Given the description of an element on the screen output the (x, y) to click on. 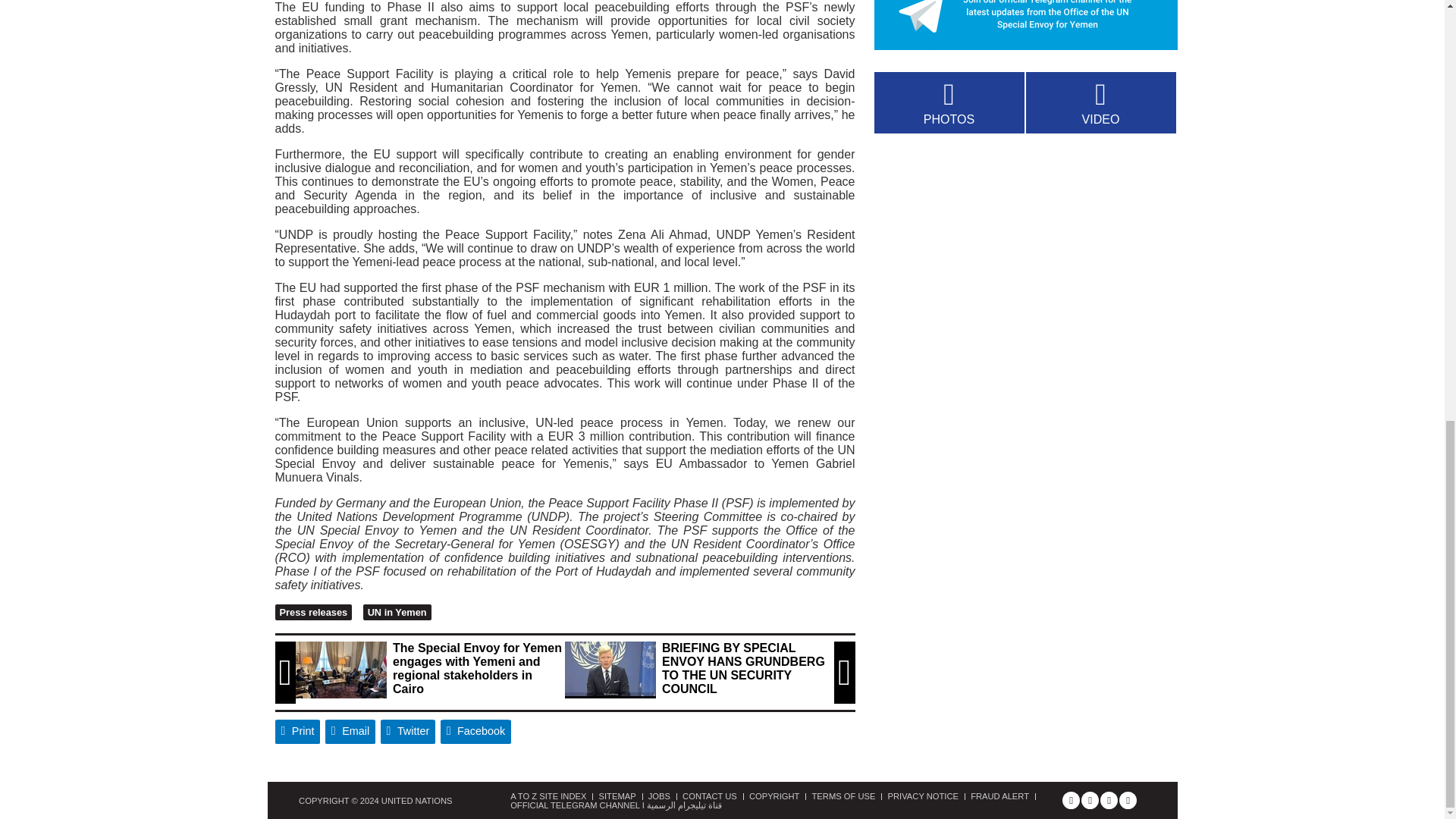
Facebook (476, 731)
Twitter (407, 731)
Email (349, 731)
Print (297, 731)
